Given the description of an element on the screen output the (x, y) to click on. 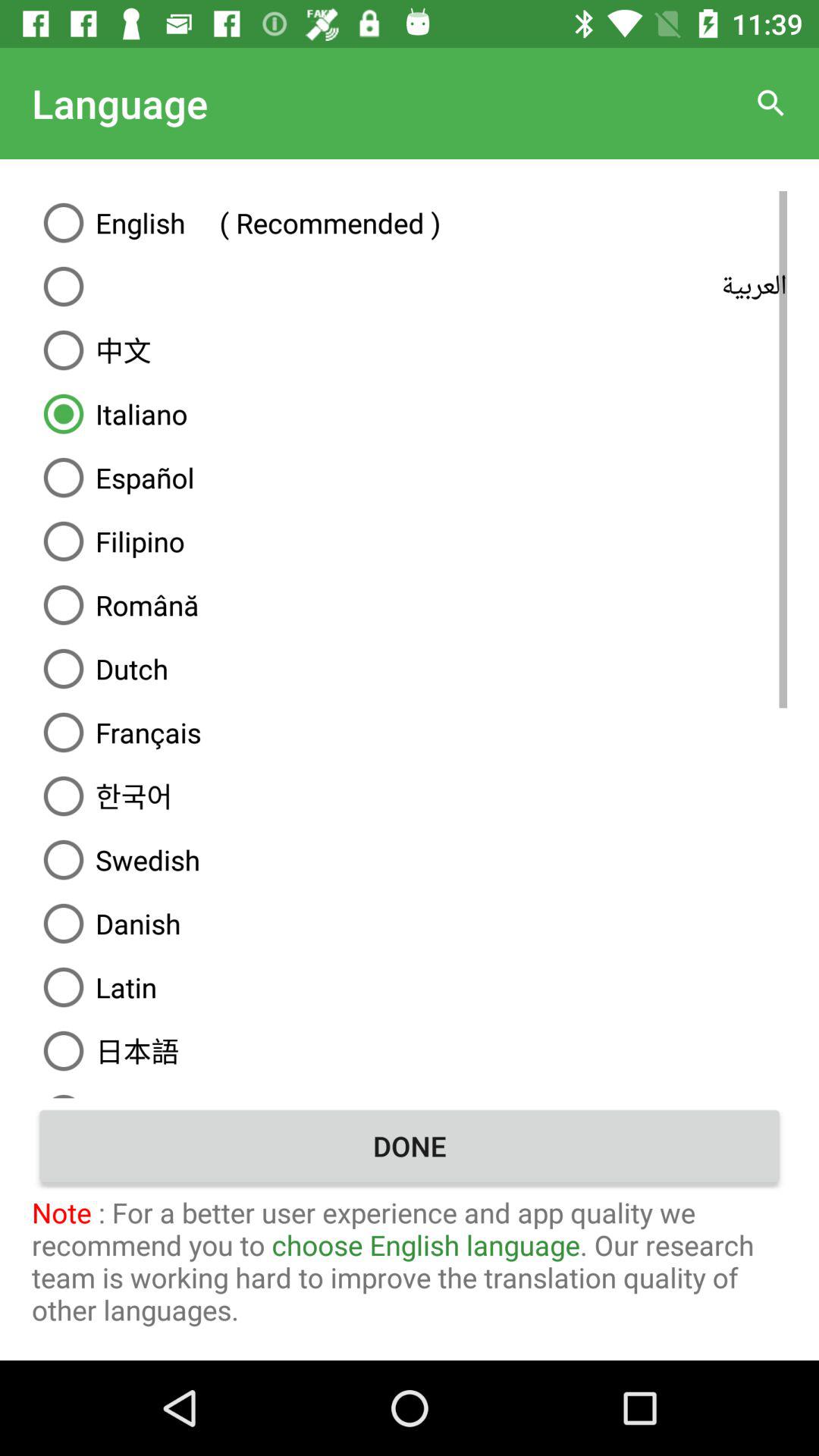
press item above dutch item (409, 605)
